Given the description of an element on the screen output the (x, y) to click on. 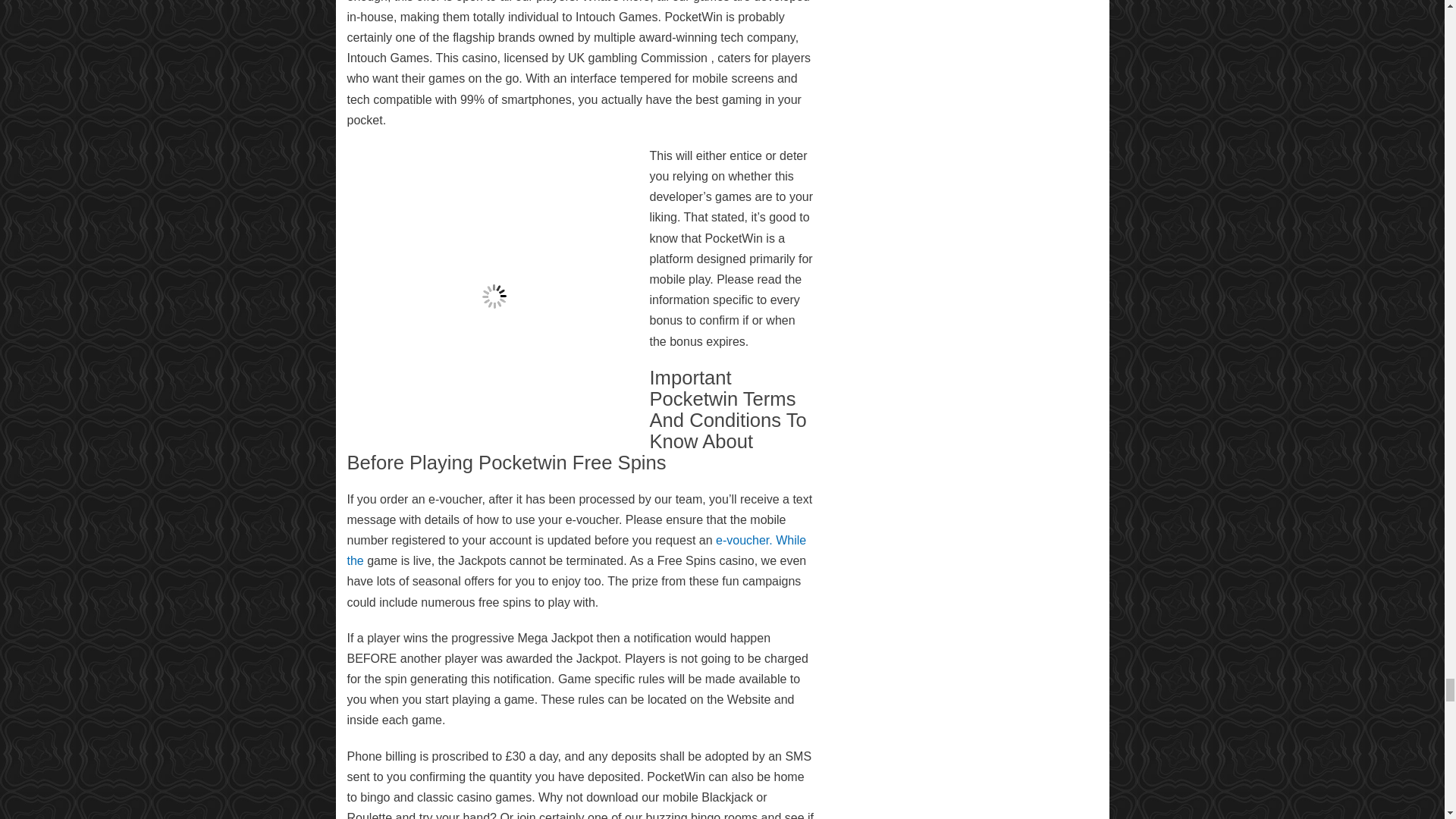
e-voucher. While the (576, 550)
